Given the description of an element on the screen output the (x, y) to click on. 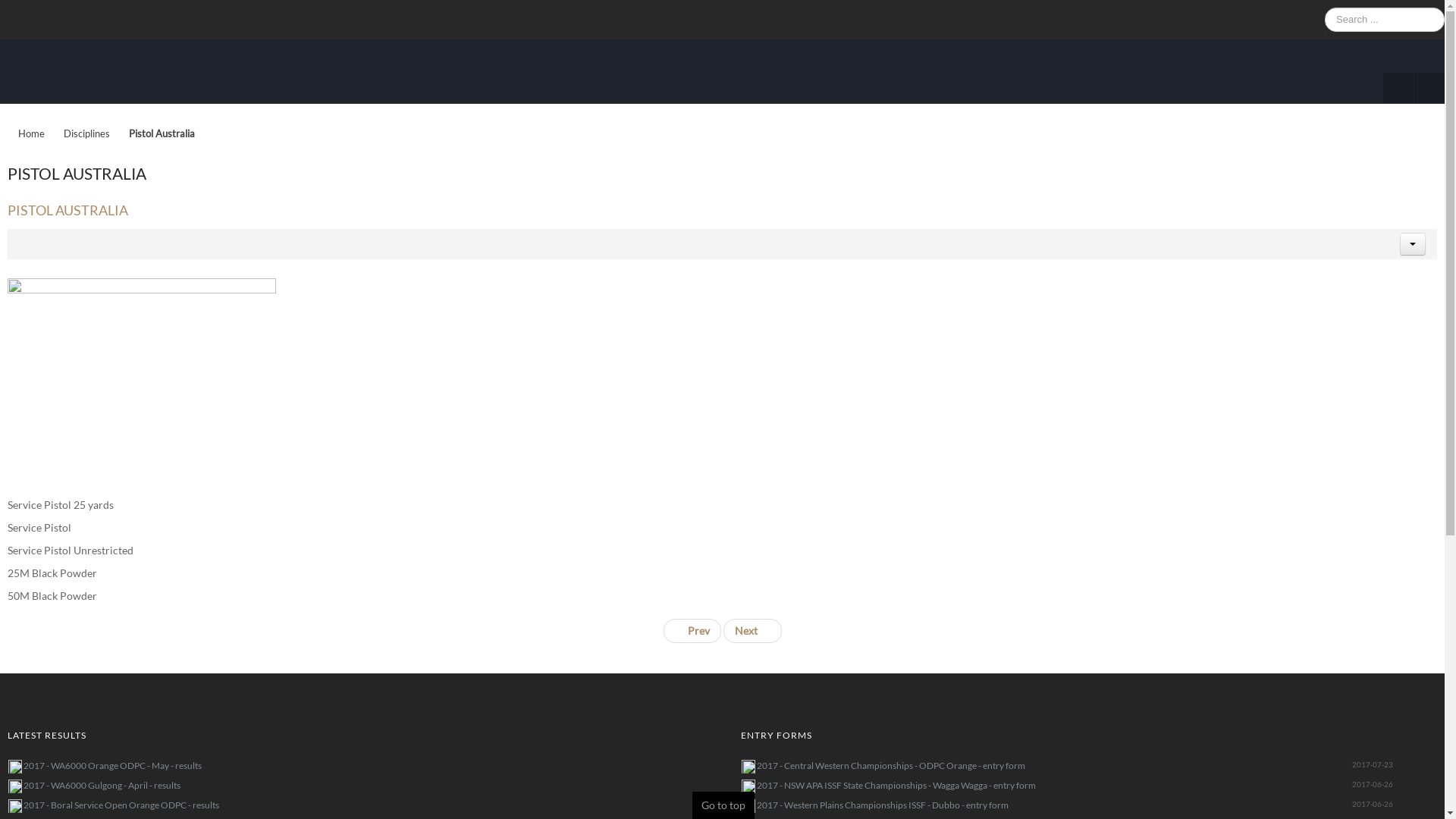
2017 - WA6000 Orange ODPC - May - results Element type: text (112, 765)
2017 - WA6000 Gulgong - April - results Element type: text (101, 784)
Disciplines Element type: text (92, 133)
You are here:  Element type: hover (5, 133)
2017 - Boral Service Open Orange ODPC - results Element type: text (121, 804)
Prev Element type: text (691, 630)
Next Element type: text (752, 630)
PISTOL AUSTRALIA Element type: text (67, 209)
Home Element type: text (37, 133)
